Given the description of an element on the screen output the (x, y) to click on. 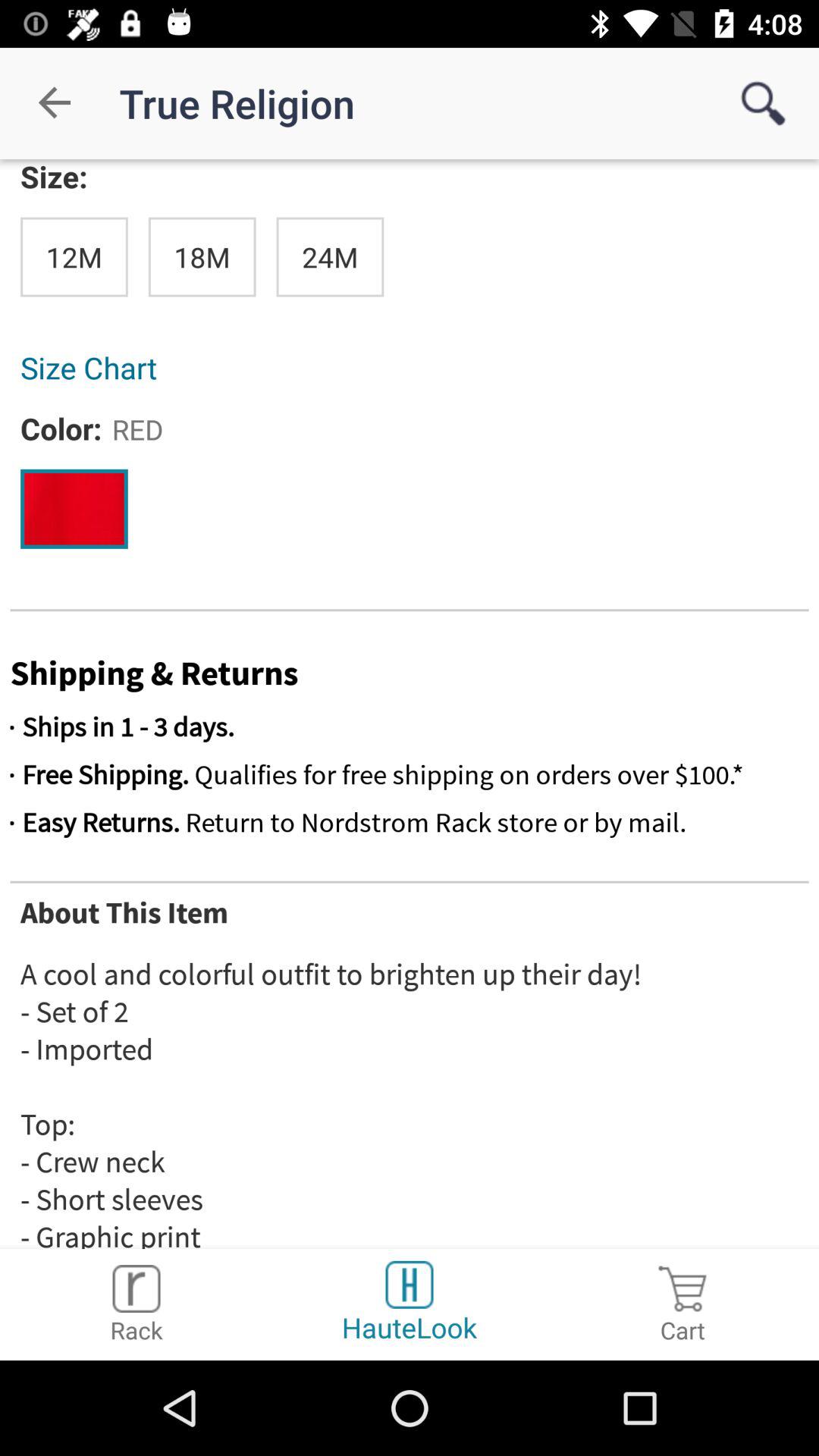
open the 12m (73, 256)
